Given the description of an element on the screen output the (x, y) to click on. 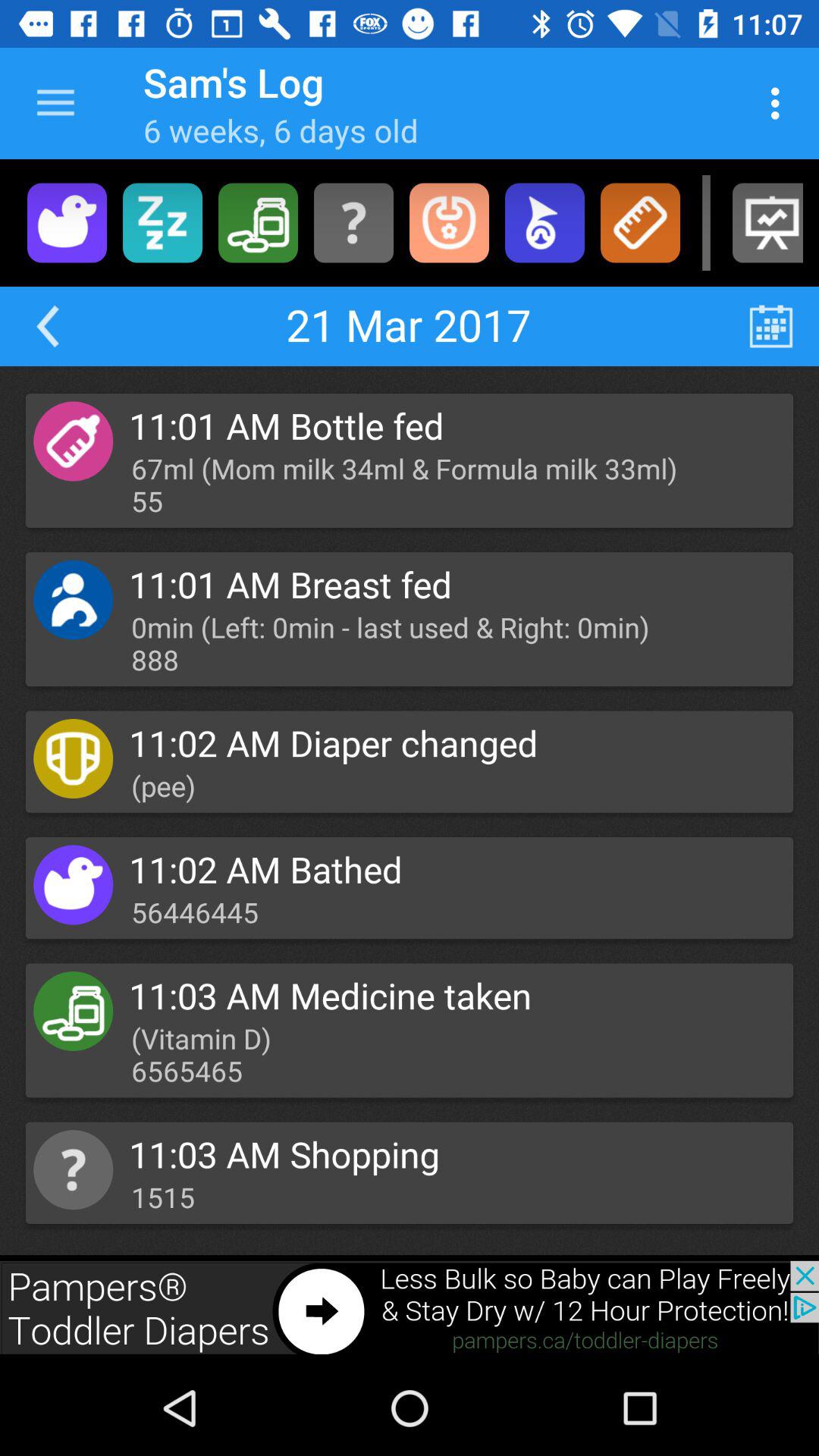
bath (66, 222)
